Given the description of an element on the screen output the (x, y) to click on. 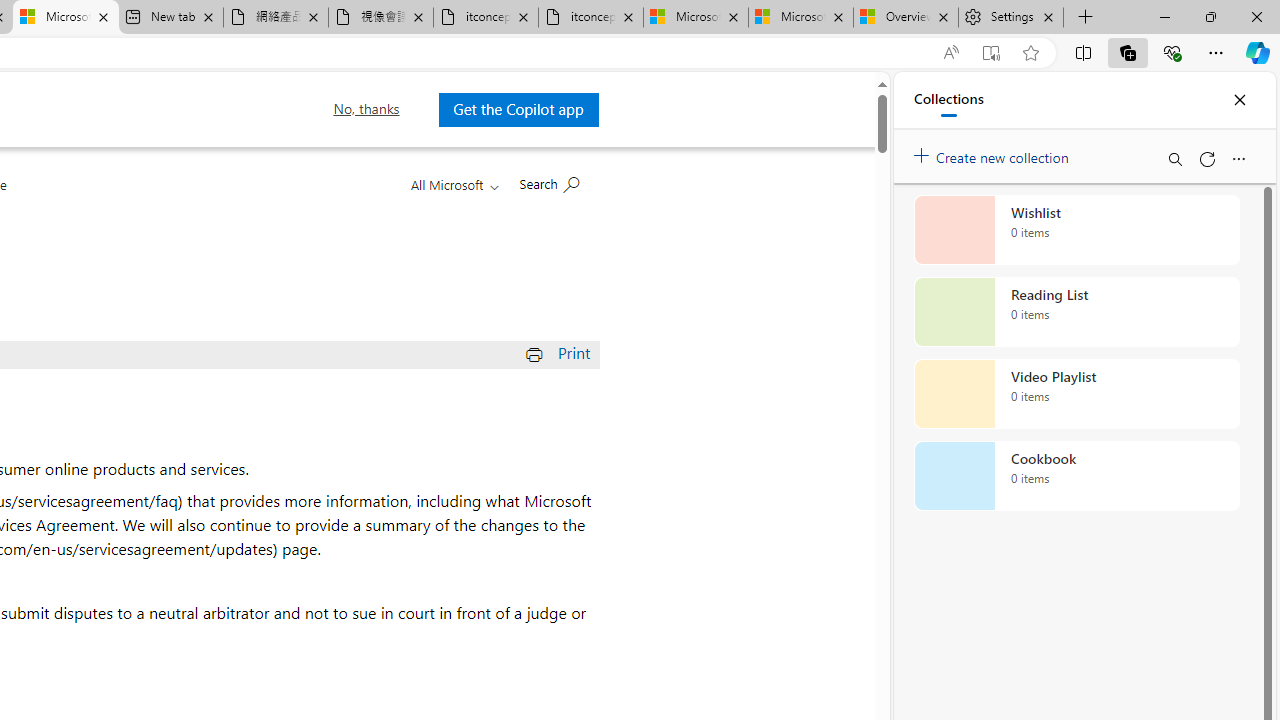
Print (560, 352)
Cookbook collection, 0 items (1076, 475)
More options menu (1238, 158)
Video Playlist collection, 0 items (1076, 394)
Wishlist collection, 0 items (1076, 229)
Get the Copilot app  (518, 109)
